Given the description of an element on the screen output the (x, y) to click on. 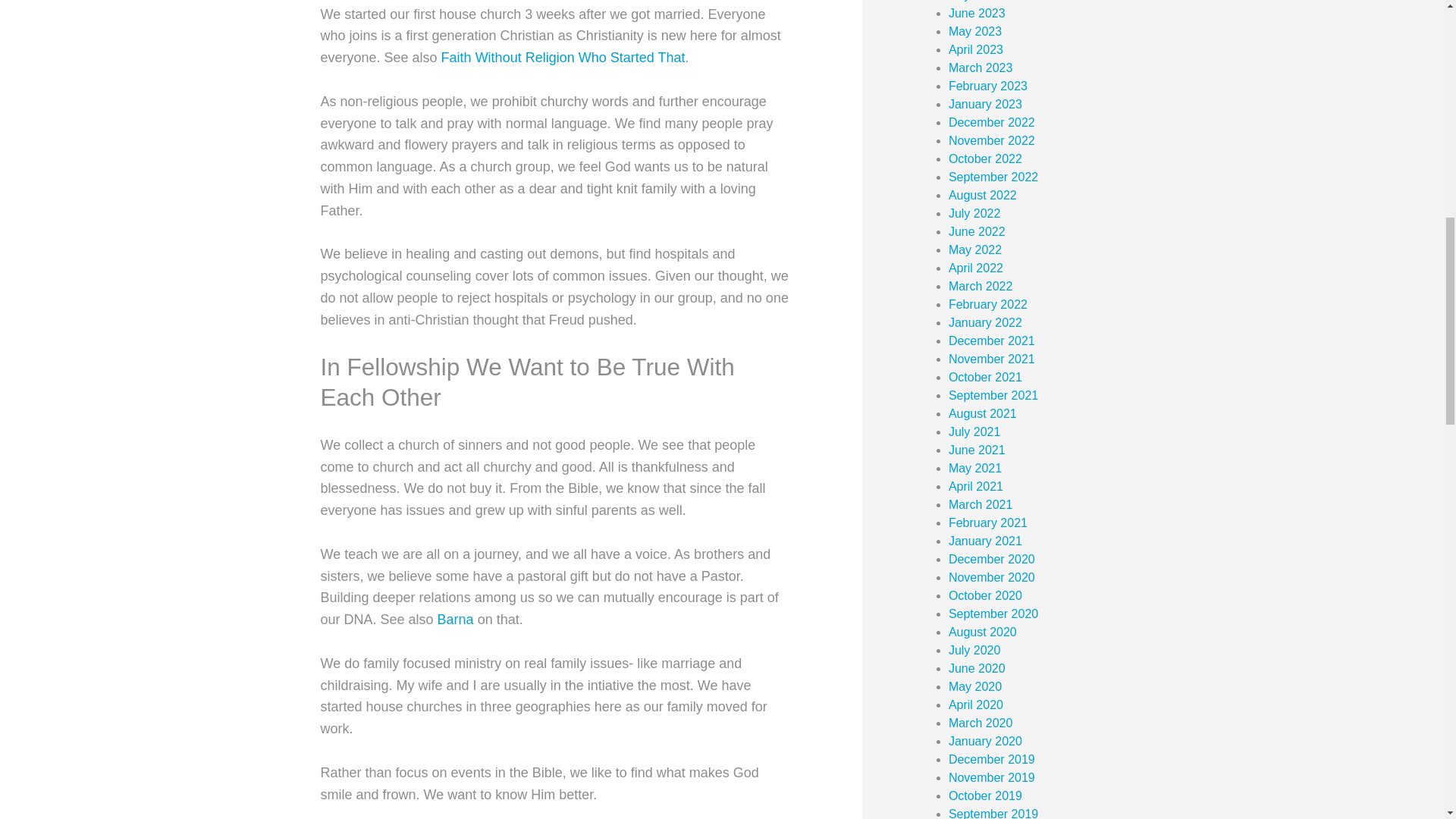
Barna (456, 619)
Faith Without Religion Who Started That (563, 57)
